Given the description of an element on the screen output the (x, y) to click on. 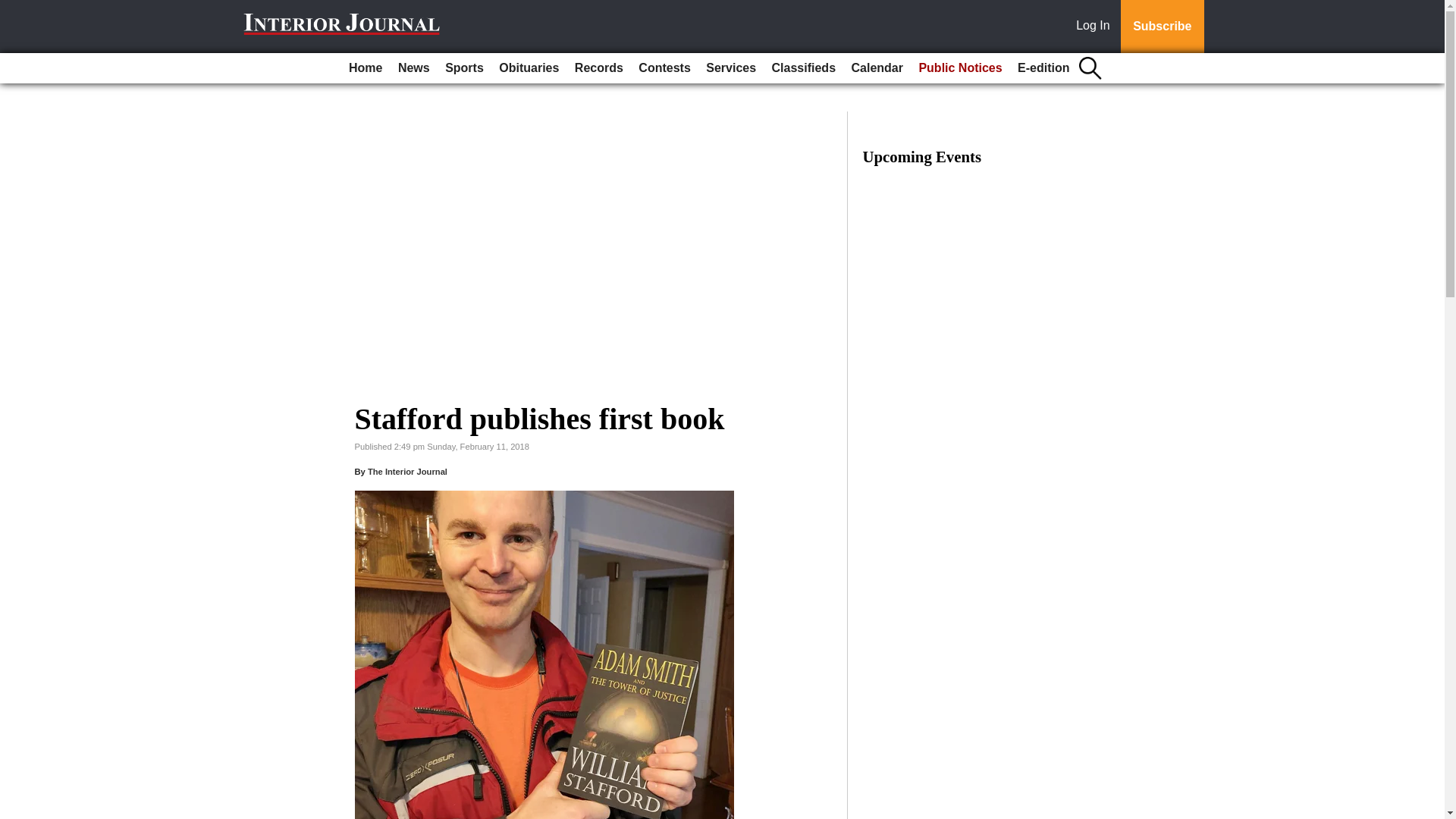
Obituaries (528, 68)
Contests (663, 68)
Log In (1095, 26)
Classifieds (803, 68)
Home (365, 68)
Go (13, 9)
News (413, 68)
The Interior Journal (407, 470)
Services (730, 68)
Records (598, 68)
E-edition (1043, 68)
Public Notices (959, 68)
Subscribe (1162, 26)
Calendar (876, 68)
Sports (464, 68)
